Given the description of an element on the screen output the (x, y) to click on. 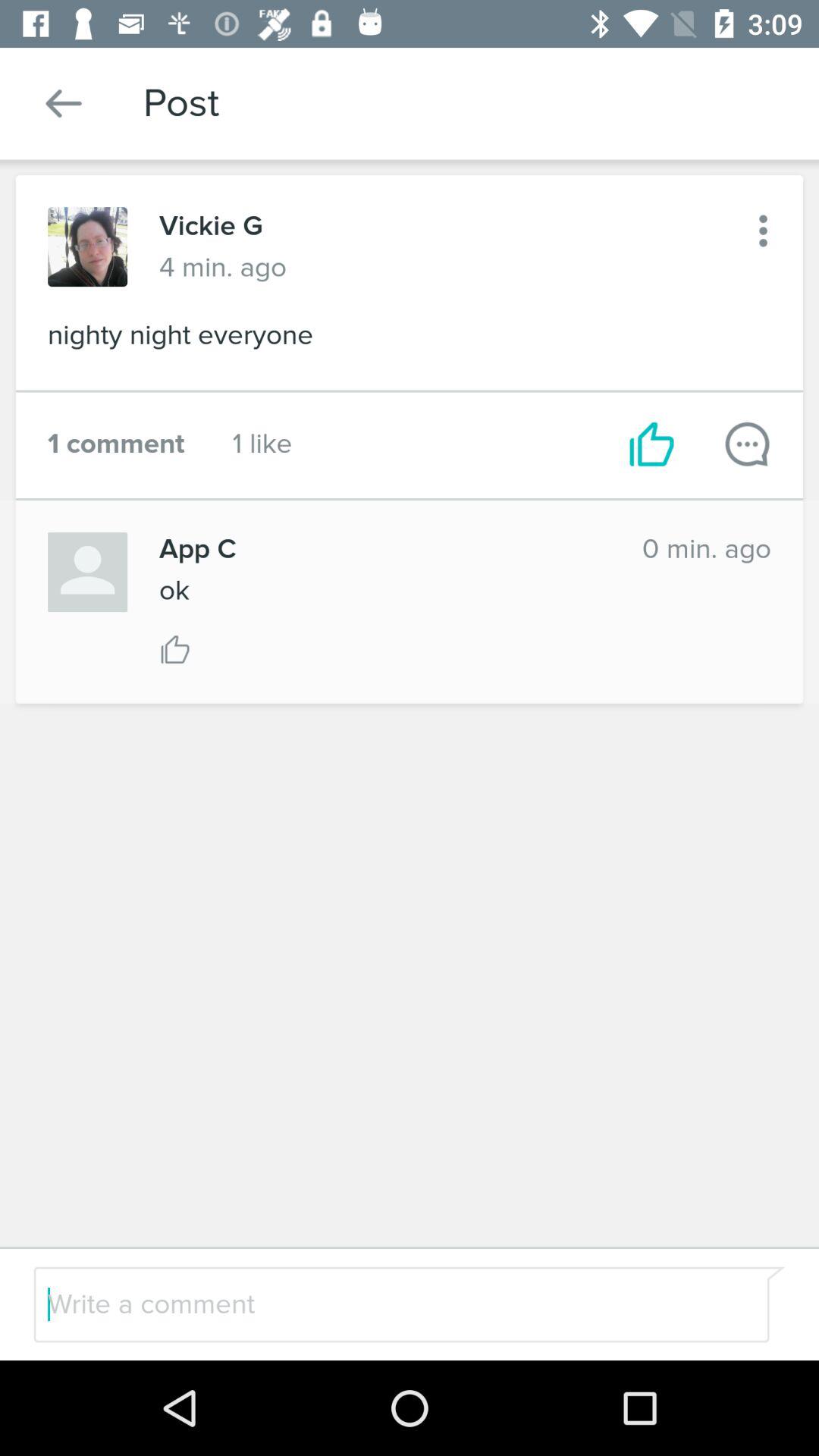
more options (763, 230)
